Given the description of an element on the screen output the (x, y) to click on. 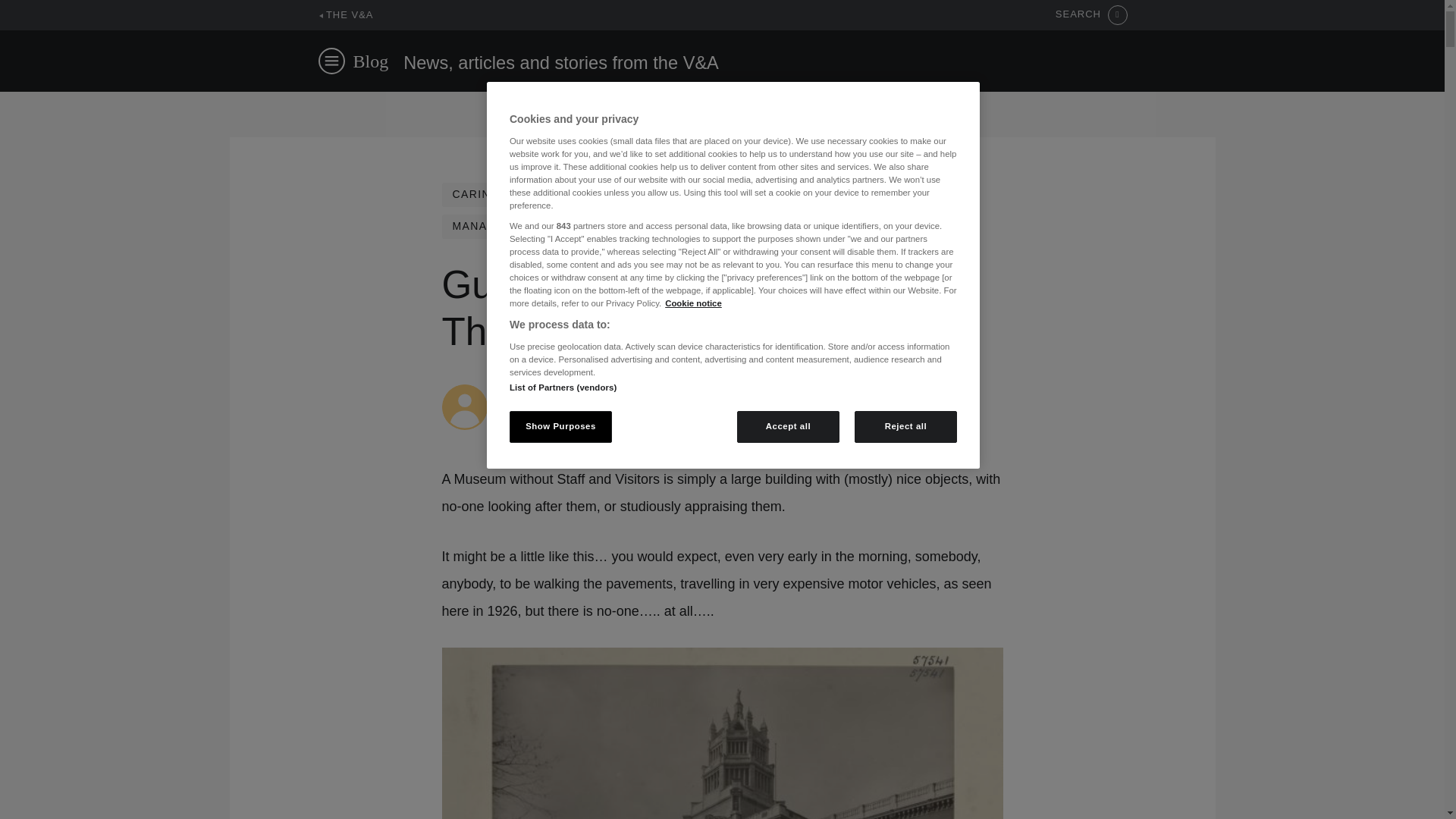
CARING FOR OUR COLLECTIONS (551, 194)
CONSERVATION (730, 194)
SEARCH (1090, 15)
Posts by Steve Woodhouse (546, 391)
Blog (370, 60)
Steve Woodhouse (546, 391)
MANAGING OUR COLLECTIONS (545, 226)
